Given the description of an element on the screen output the (x, y) to click on. 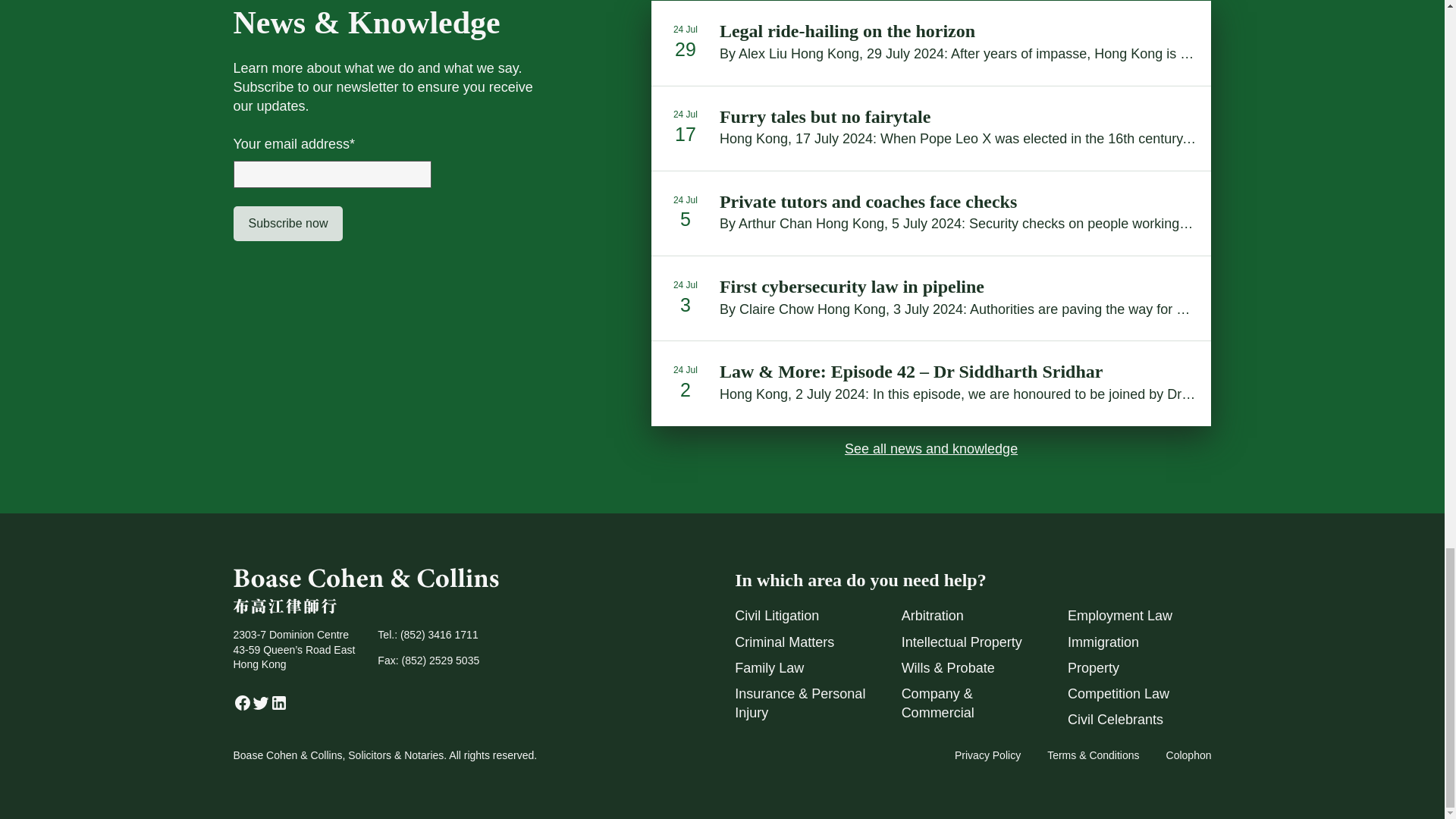
Criminal Matters (784, 642)
Subscribe now (287, 223)
Civil Litigation (776, 615)
Intellectual Property (961, 642)
Property (1093, 667)
Arbitration (932, 615)
Employment Law (1119, 615)
Twitter (260, 707)
Facebook (241, 707)
Linkedin (278, 707)
Immigration (1102, 642)
Subscribe now (287, 223)
See all news and knowledge (930, 448)
Family Law (769, 667)
